Given the description of an element on the screen output the (x, y) to click on. 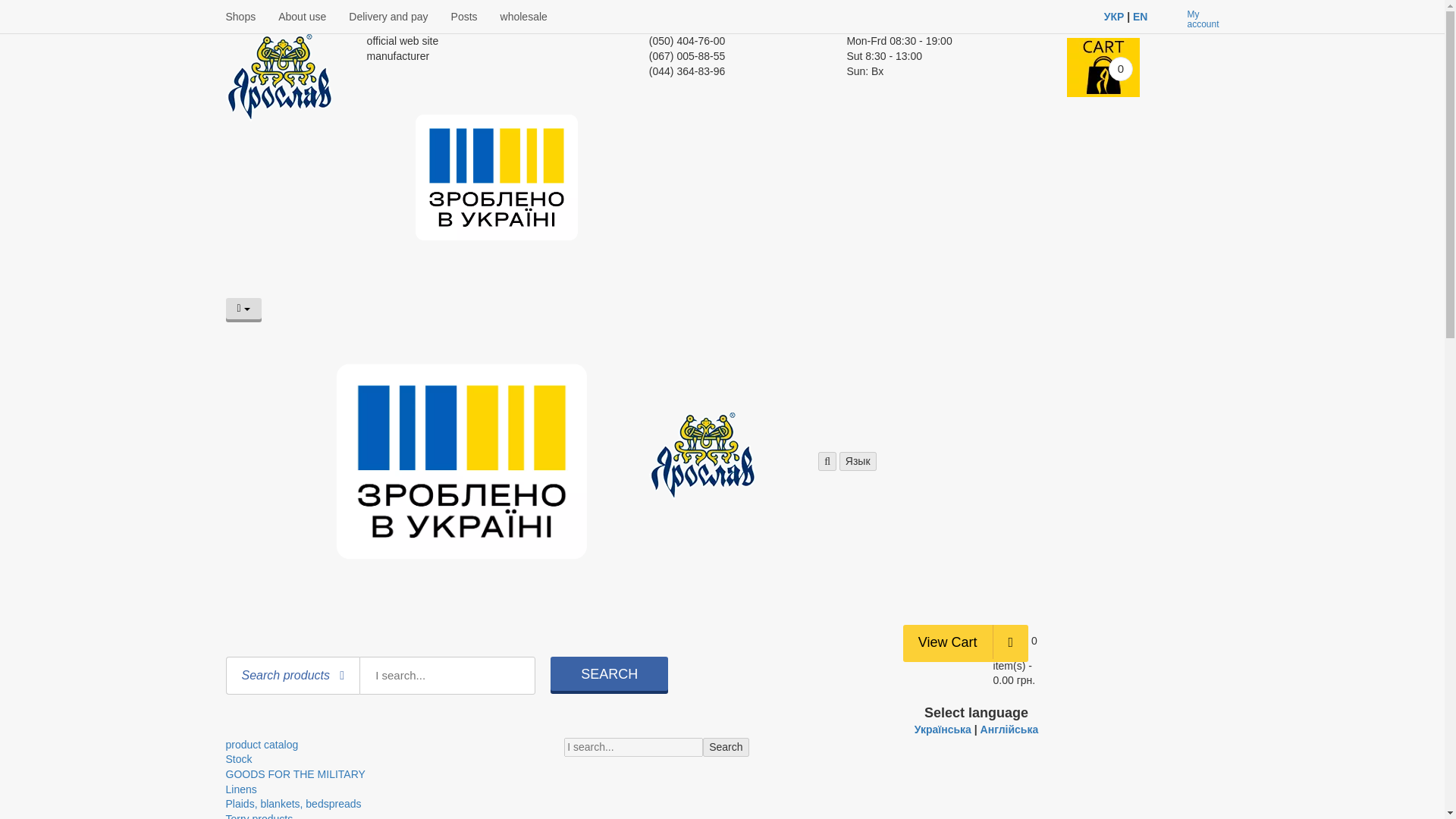
SEARCH (609, 673)
Search (725, 747)
About use (302, 16)
Stock (238, 758)
EN (1139, 16)
Plaids, blankets, bedspreads (293, 803)
product catalog (261, 744)
Search (725, 747)
Delivery and pay (388, 16)
Terry products (259, 816)
